Given the description of an element on the screen output the (x, y) to click on. 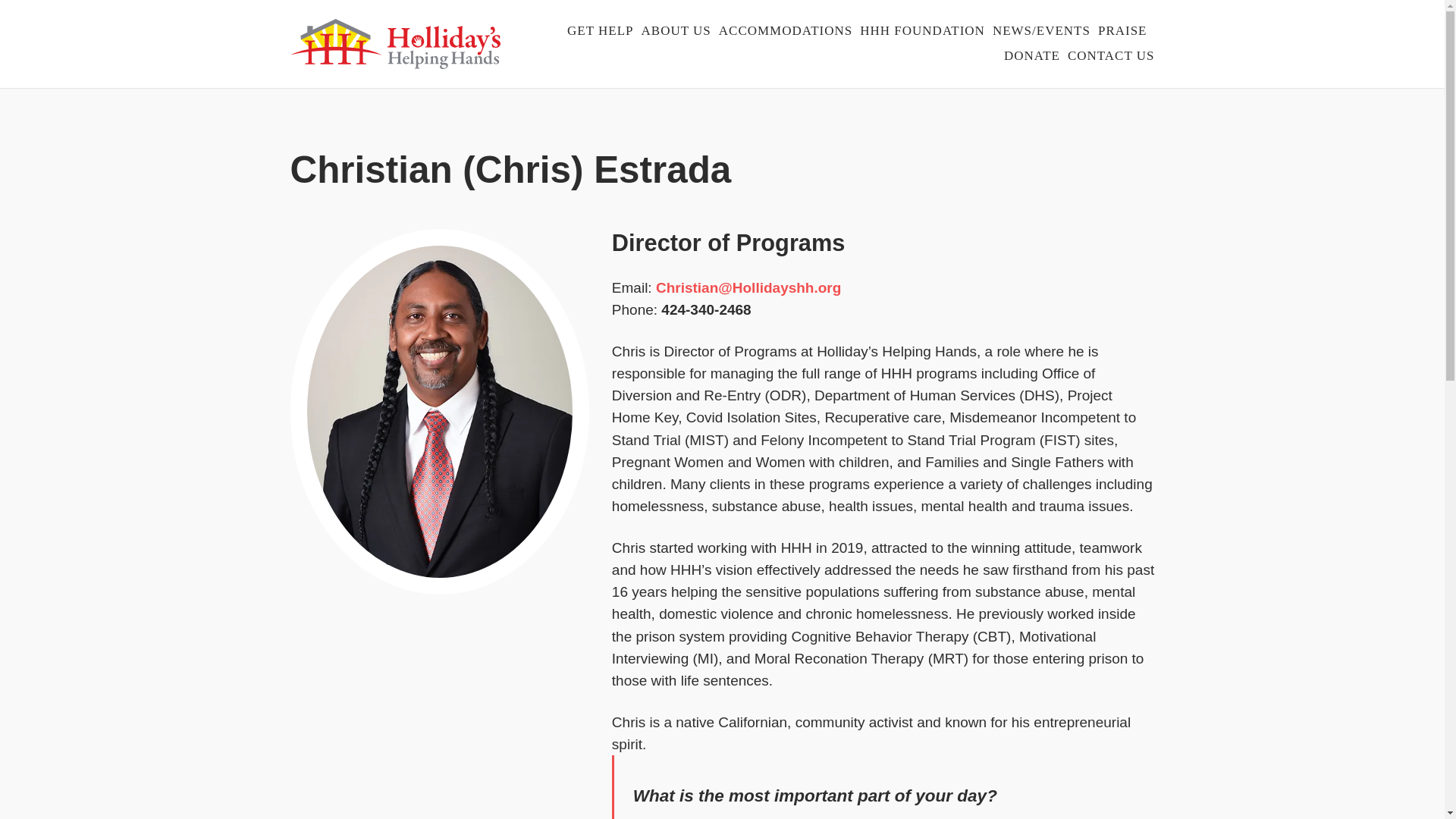
CONTACT US (1110, 58)
PRAISE (1122, 33)
ACCOMMODATIONS (785, 33)
GET HELP (600, 33)
DONATE (1031, 58)
ABOUT US (676, 32)
HHH FOUNDATION (922, 32)
